Given the description of an element on the screen output the (x, y) to click on. 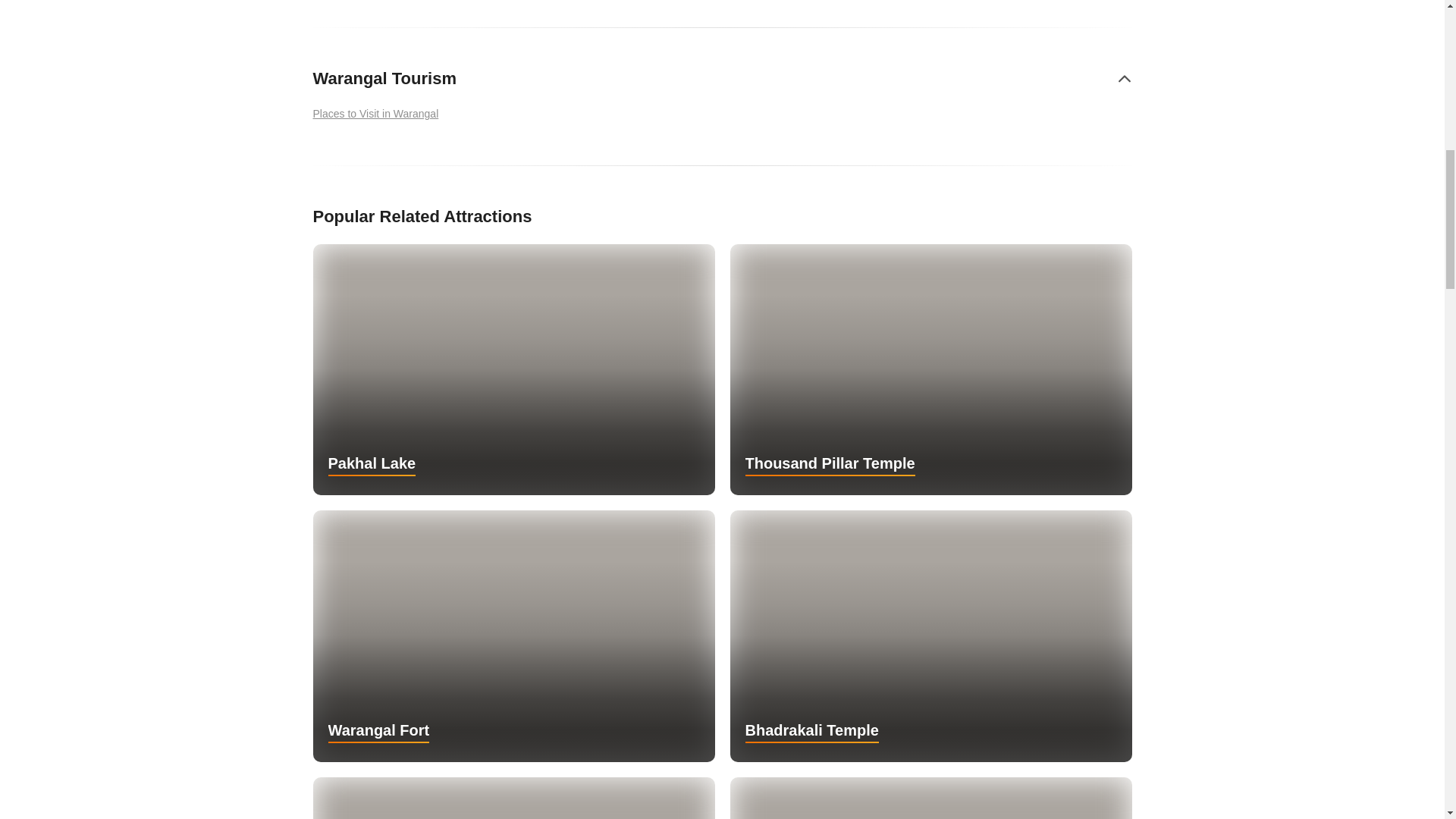
Kakatiya Musical Garden (513, 797)
Places to Visit in Warangal (379, 114)
Padmakshi Temple (930, 797)
Thousand Pillar Temple (930, 369)
Warangal Fort (513, 635)
Pakhal Lake (513, 369)
Bhadrakali Temple (930, 635)
